Given the description of an element on the screen output the (x, y) to click on. 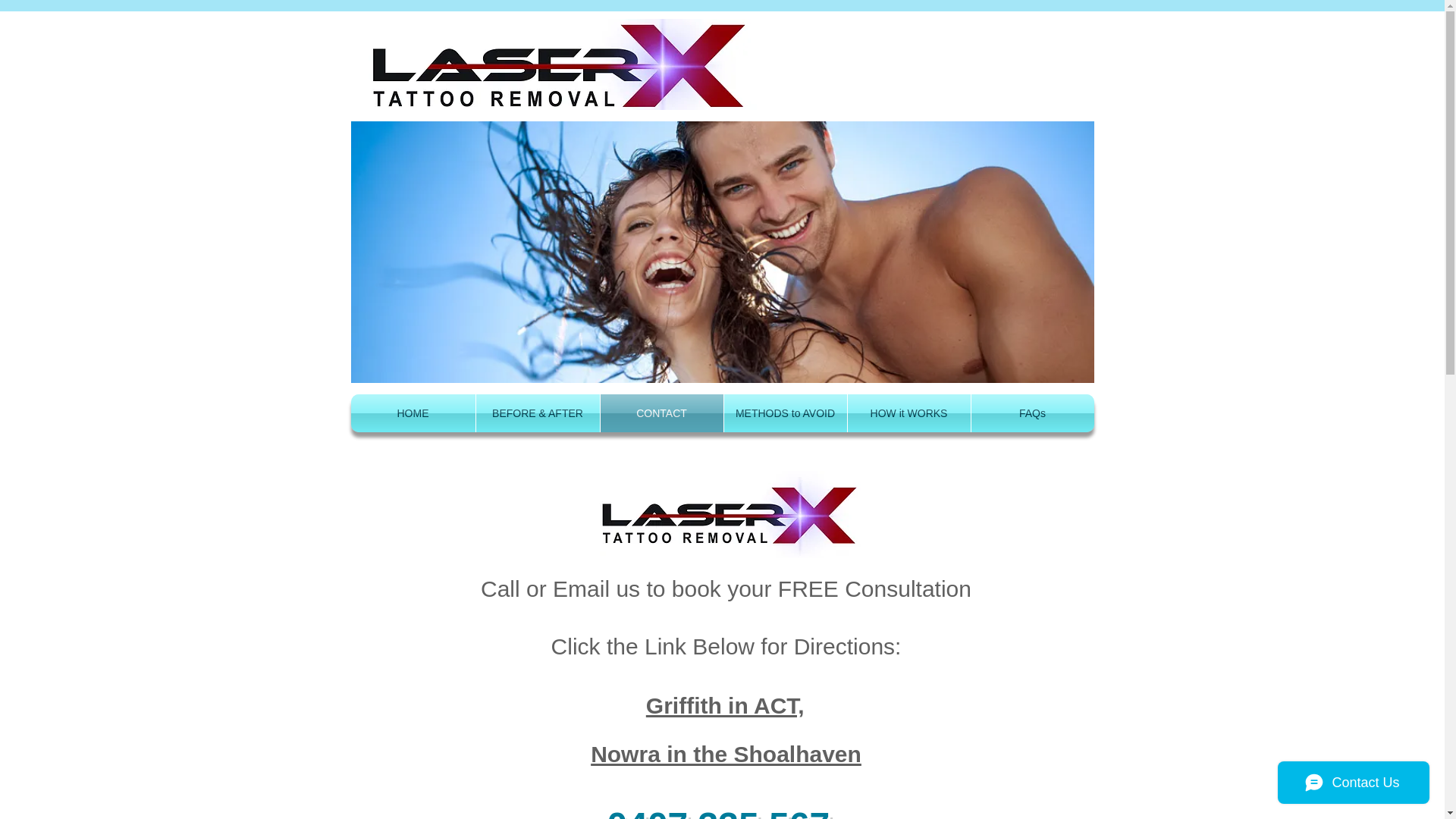
Nowra in the Shoalhaven Element type: text (725, 760)
Laser X Tattoo Removal Element type: hover (558, 63)
METHODS to AVOID Element type: text (784, 413)
CONTACT Element type: text (661, 413)
Laser X Tattoo Removal Element type: hover (727, 514)
Griffith in ACT, Element type: text (725, 711)
HOME Element type: text (412, 413)
BEFORE & AFTER Element type: text (537, 413)
FAQs Element type: text (1031, 413)
Laser X Tattoo Removal Element type: hover (721, 251)
HOW it WORKS Element type: text (908, 413)
